Given the description of an element on the screen output the (x, y) to click on. 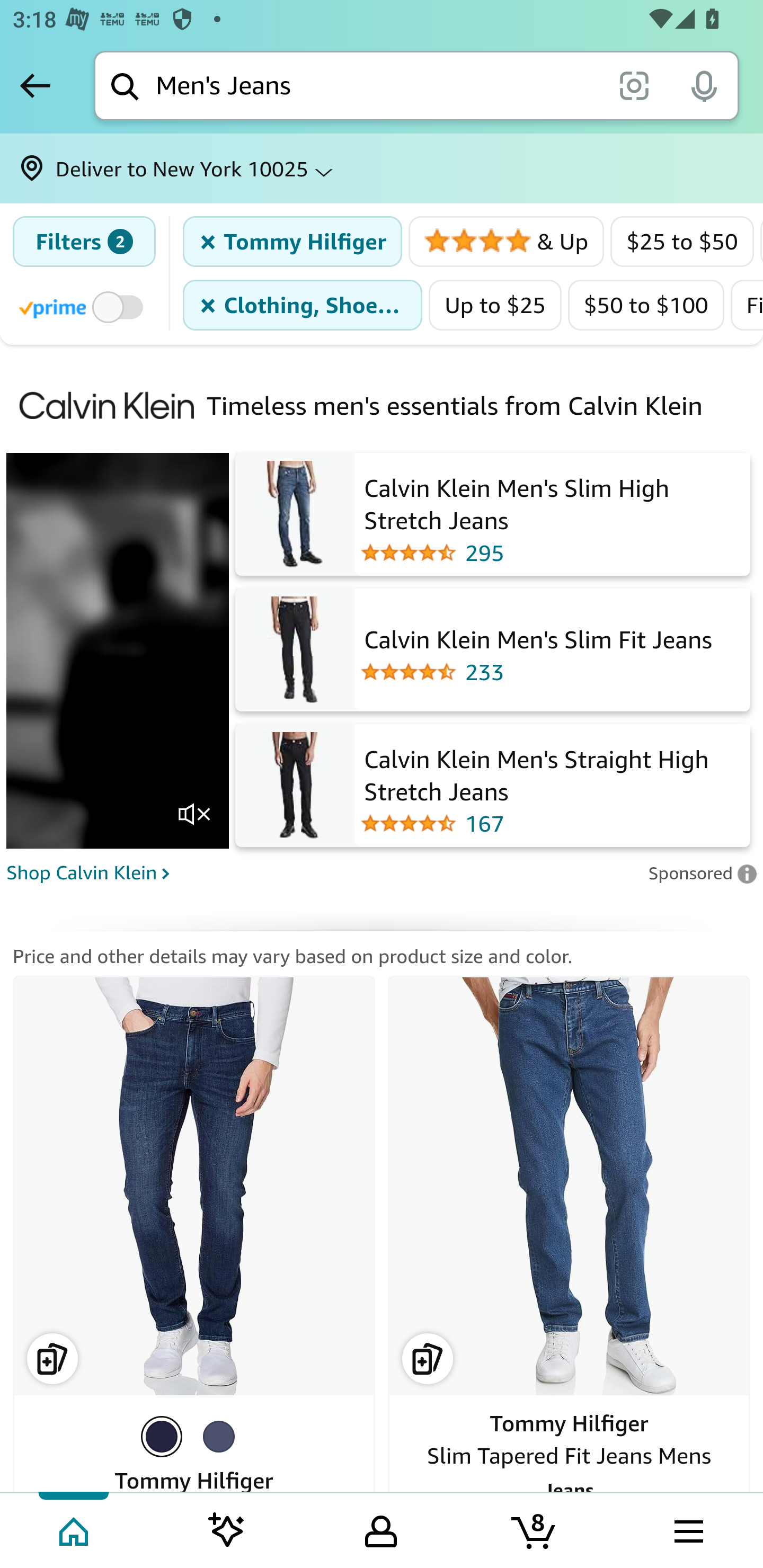
Back (35, 85)
scan it (633, 85)
Deliver to New York 10025 ⌵ (381, 168)
Filters 2 (83, 241)
× Tommy Hilfiger × Tommy Hilfiger (293, 241)
4 Stars & Up (506, 241)
$25 to $50 (682, 241)
Toggle to filter by Prime products Prime Eligible (83, 306)
Up to $25 (495, 304)
$50 to $100 (645, 304)
Timeless men's essentials from Calvin Klein (455, 404)
Calvin Klein Men's Slim High Stretch Jeans (551, 501)
295 (551, 552)
Calvin Klein Men's Slim Fit Jeans (535, 637)
233 (535, 672)
Calvin Klein Men's Straight High Stretch Jeans (551, 772)
Mute Sponsored Video (193, 814)
167 (551, 823)
Shop Calvin Klein  Shop Calvin  Klein  (321, 870)
Leave feedback on Sponsored ad (701, 872)
Blue (164, 1435)
Bridger Indigo (222, 1435)
Home Tab 1 of 5 (75, 1529)
Inspire feed Tab 2 of 5 (227, 1529)
Your Amazon.com Tab 3 of 5 (380, 1529)
Cart 8 items Tab 4 of 5 8 (534, 1529)
Browse menu Tab 5 of 5 (687, 1529)
